Given the description of an element on the screen output the (x, y) to click on. 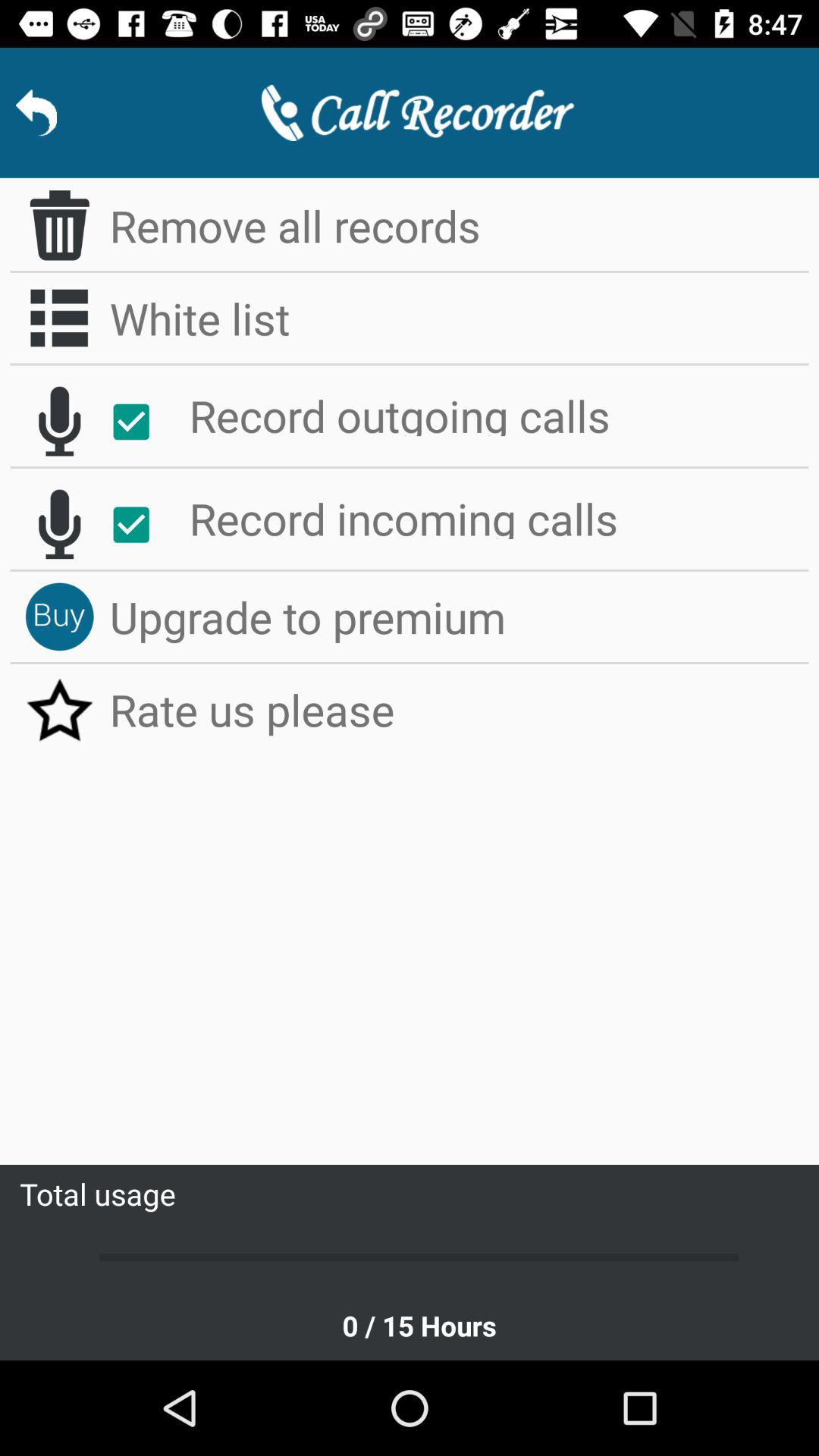
choose app next to record outgoing calls (139, 421)
